Given the description of an element on the screen output the (x, y) to click on. 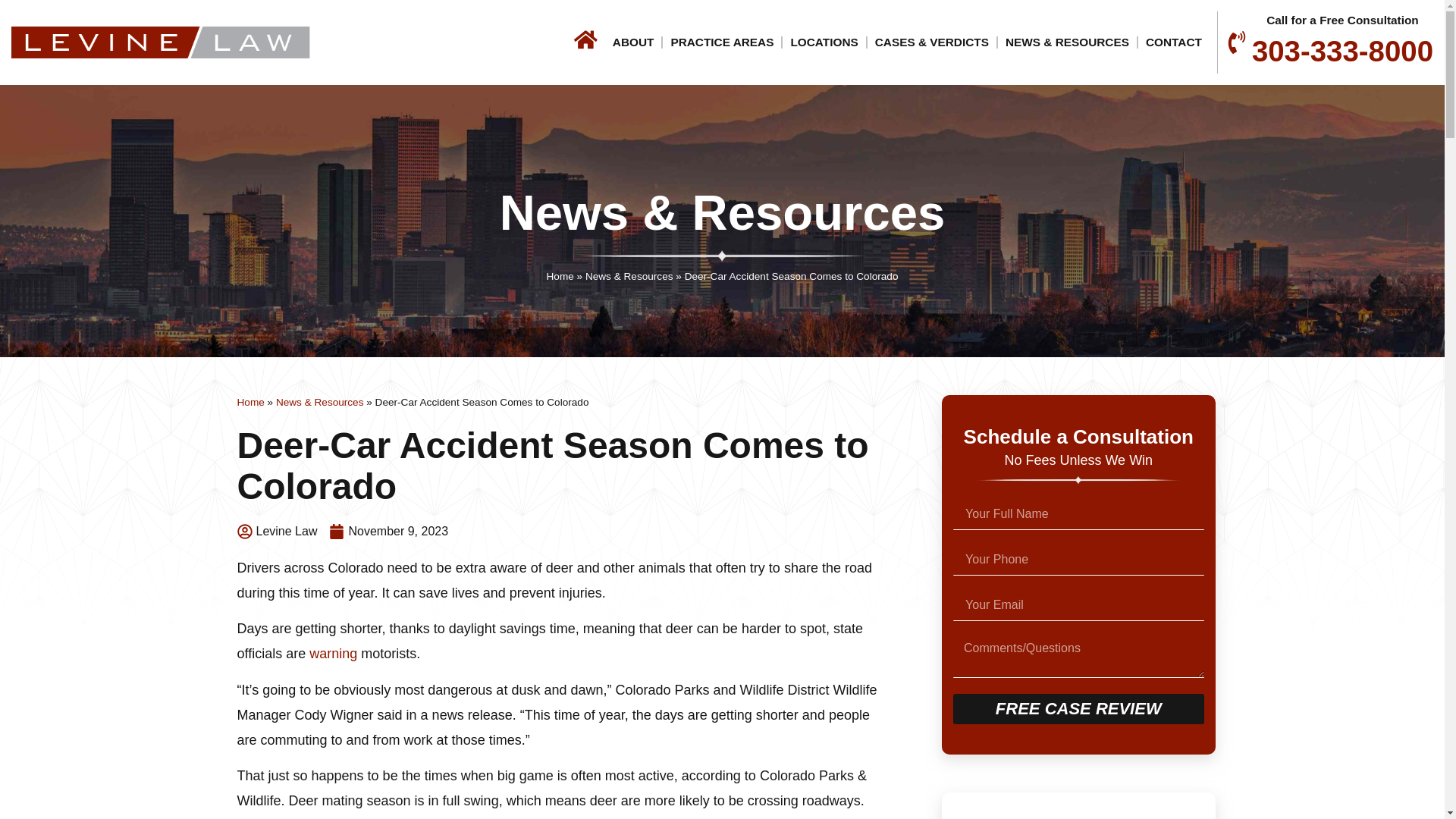
ABOUT (633, 42)
LOCATIONS (823, 42)
PRACTICE AREAS (721, 42)
